Given the description of an element on the screen output the (x, y) to click on. 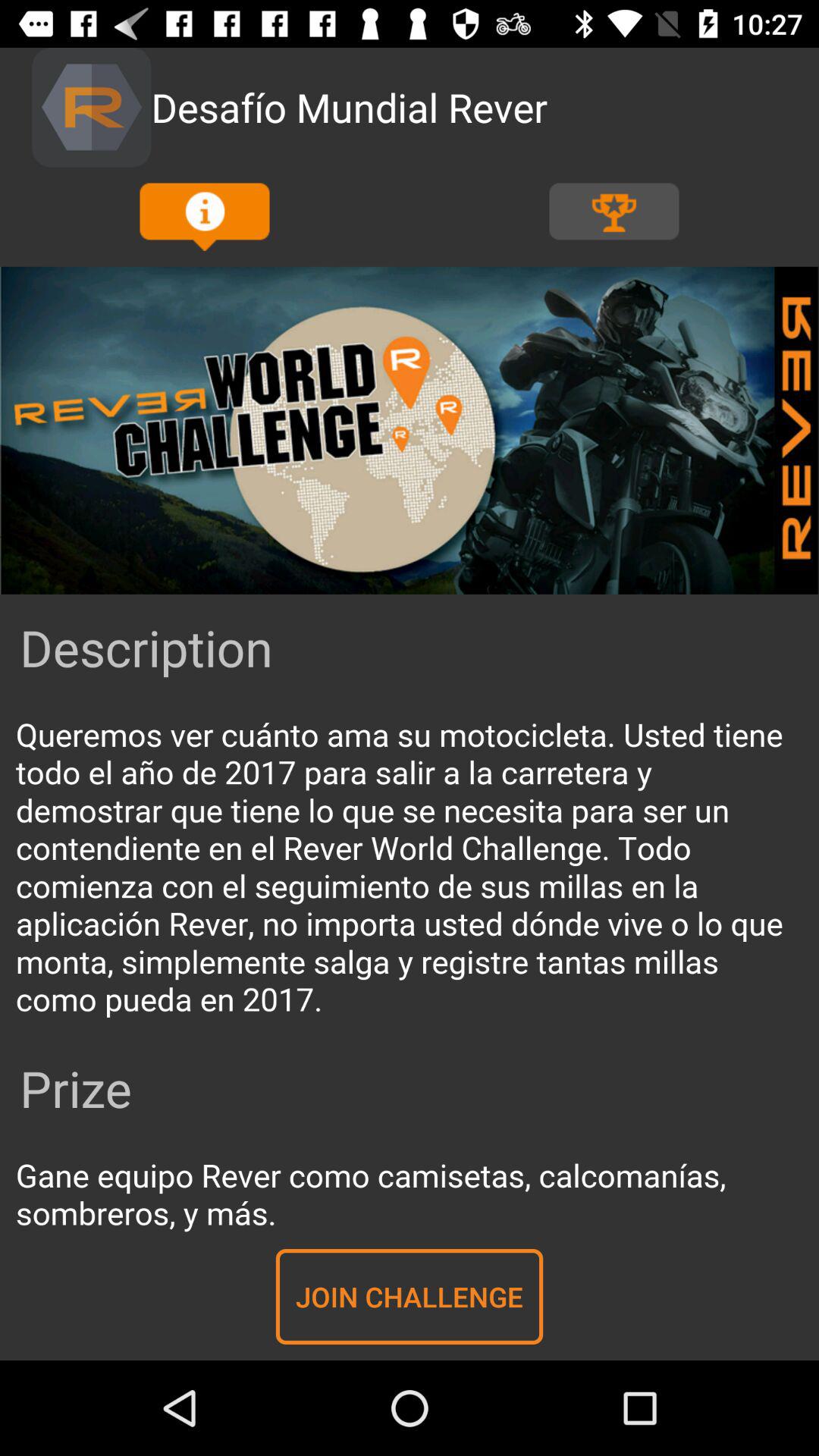
read information (409, 867)
